Given the description of an element on the screen output the (x, y) to click on. 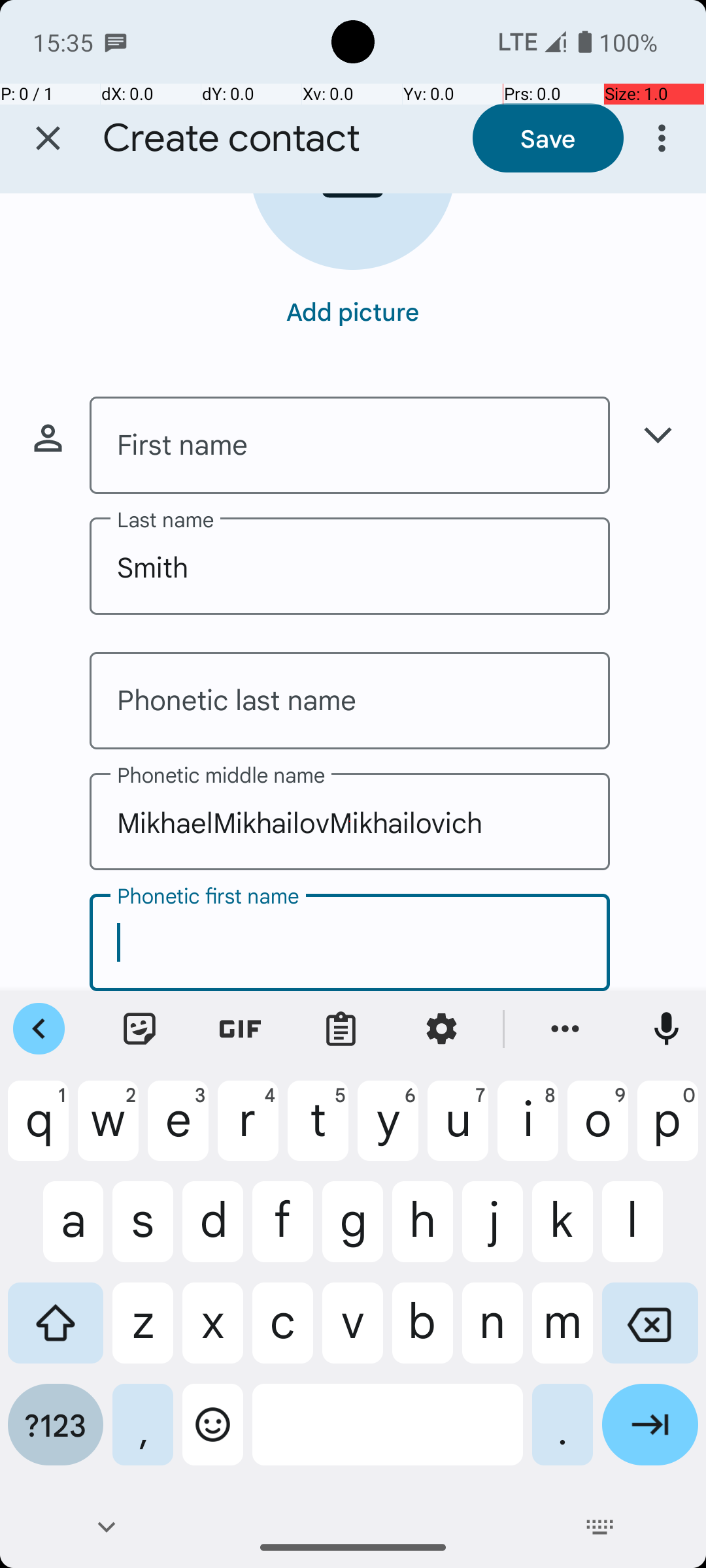
Add contact photo Element type: android.widget.FrameLayout (352, 231)
Add picture Element type: android.widget.Button (352, 310)
Smith Element type: android.widget.EditText (349, 565)
Phonetic last name Element type: android.widget.EditText (349, 700)
MikhaelMikhailovMikhailovich Element type: android.widget.EditText (349, 821)
Phonetic first name Element type: android.widget.EditText (349, 942)
Show more name fields Element type: android.widget.ImageView (657, 434)
